Given the description of an element on the screen output the (x, y) to click on. 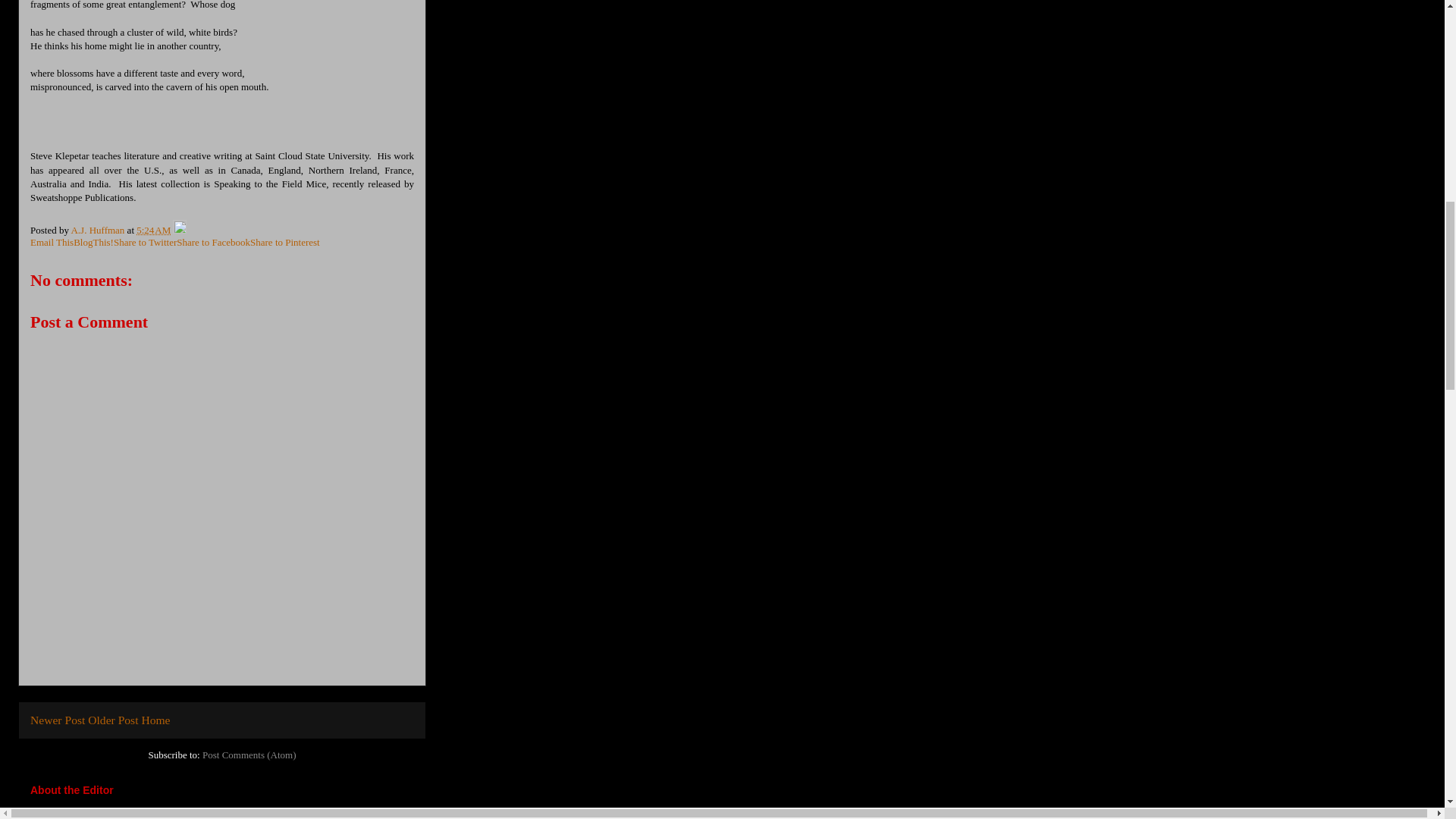
Share to Pinterest (285, 242)
Share to Pinterest (285, 242)
BlogThis! (93, 242)
Share to Facebook (213, 242)
Email This (52, 242)
Newer Post (57, 719)
Share to Facebook (213, 242)
Share to Twitter (144, 242)
Edit Post (179, 229)
A.J. Huffman (97, 229)
author profile (97, 229)
BlogThis! (93, 242)
Newer Post (57, 719)
Home (155, 719)
